Given the description of an element on the screen output the (x, y) to click on. 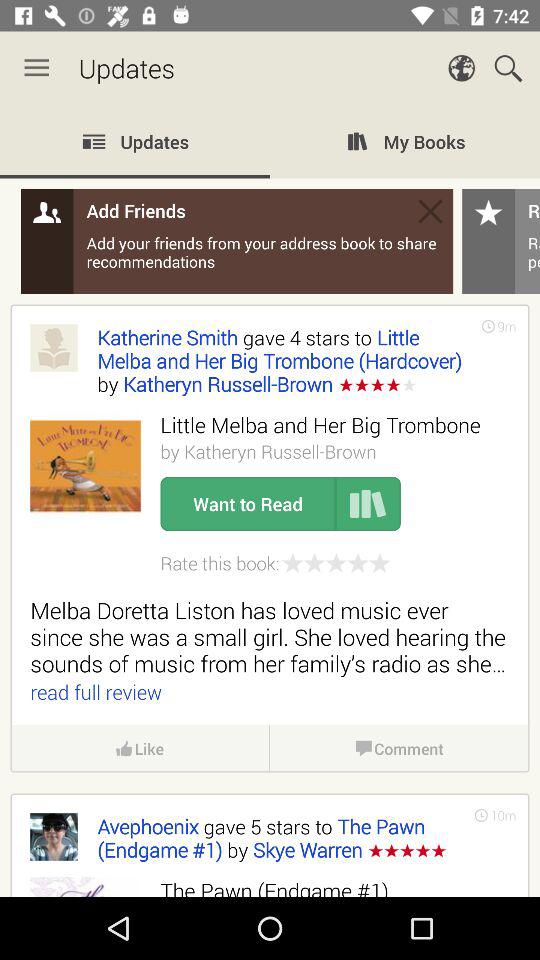
display use zone (270, 501)
